Given the description of an element on the screen output the (x, y) to click on. 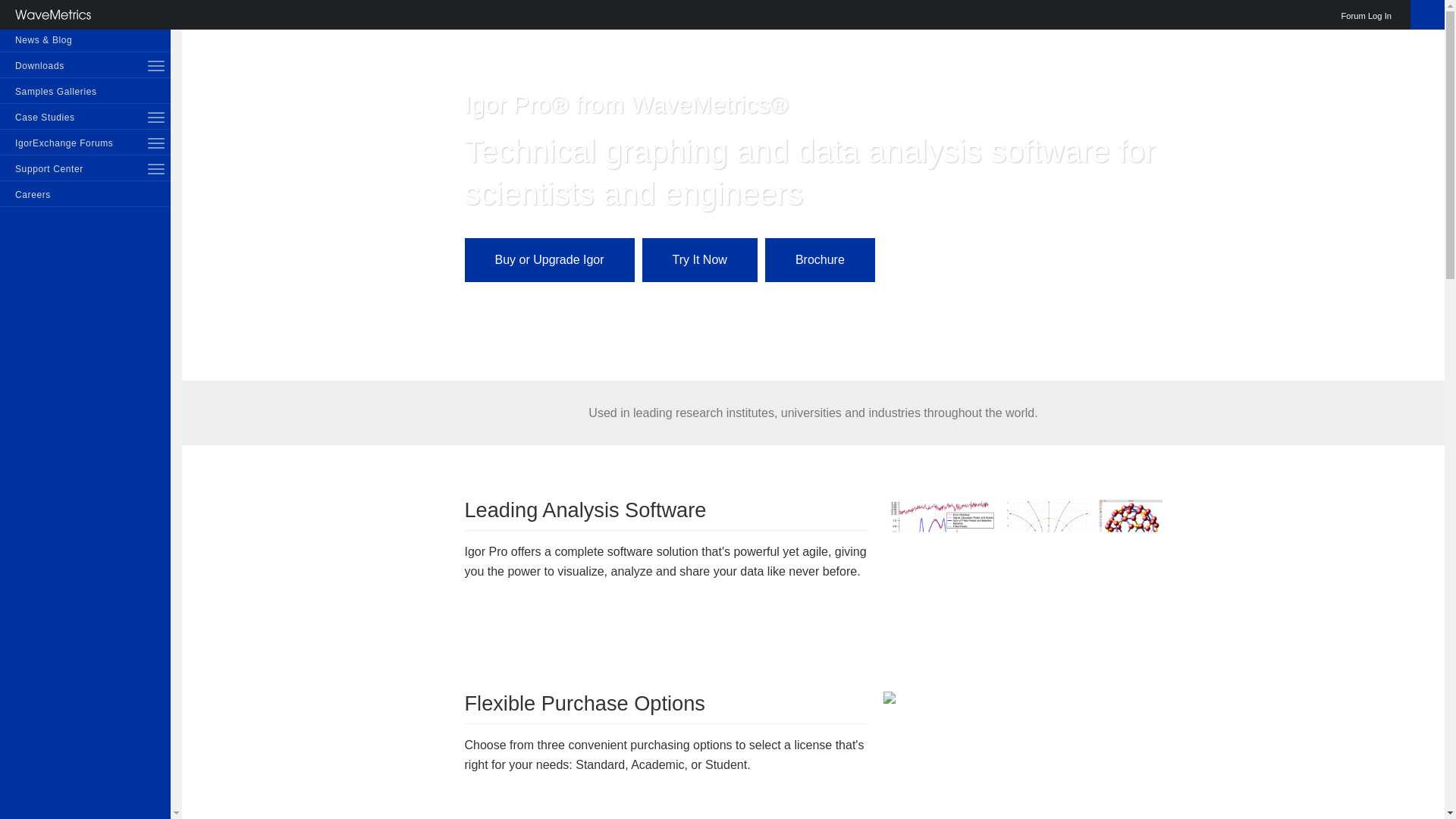
Products (85, 13)
